Given the description of an element on the screen output the (x, y) to click on. 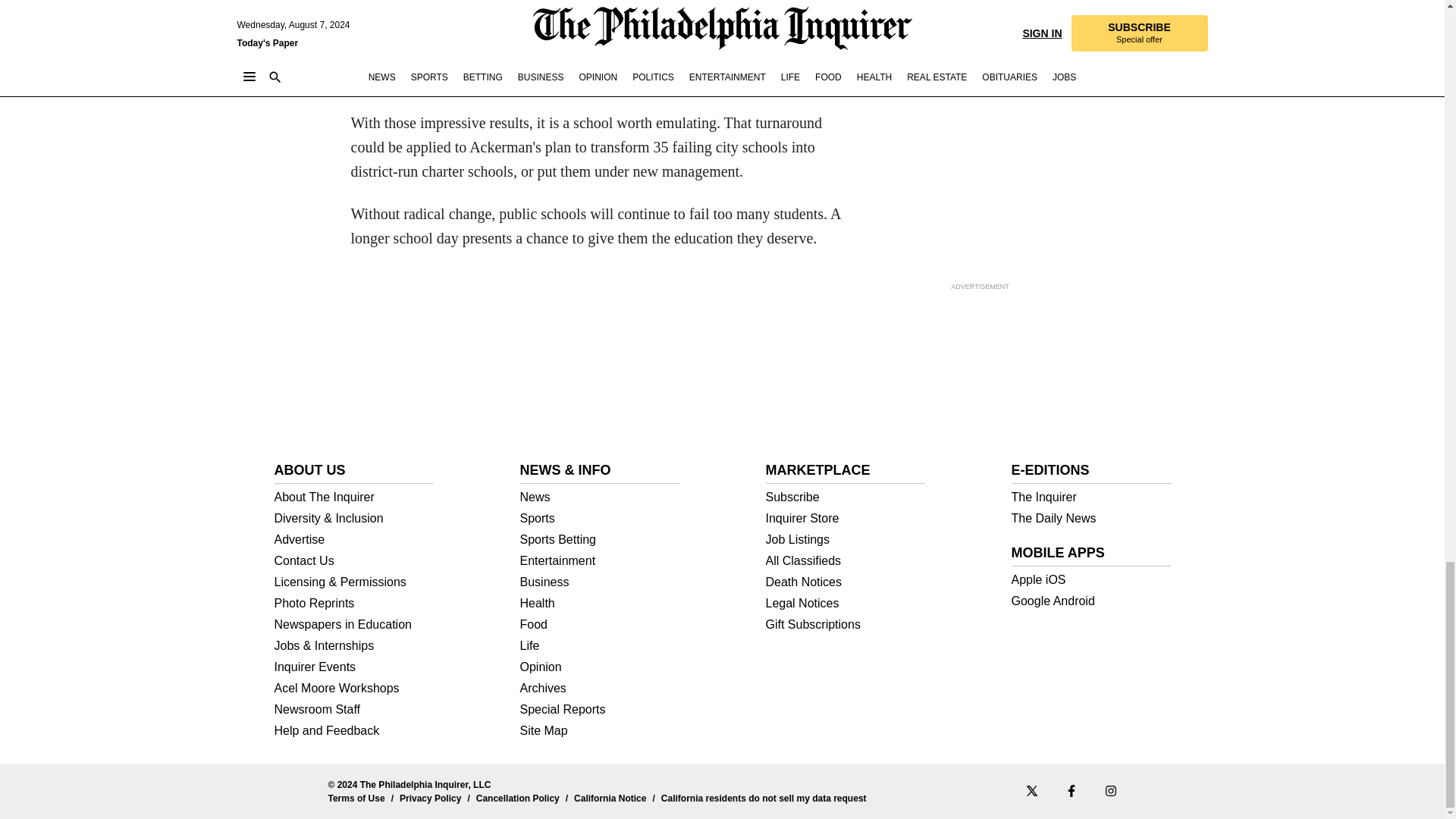
Photo Reprints (354, 603)
Instagram (1109, 789)
Advertise (354, 539)
Facebook (1070, 789)
About The Inquirer (354, 497)
Contact Us (354, 561)
X (1030, 789)
